Given the description of an element on the screen output the (x, y) to click on. 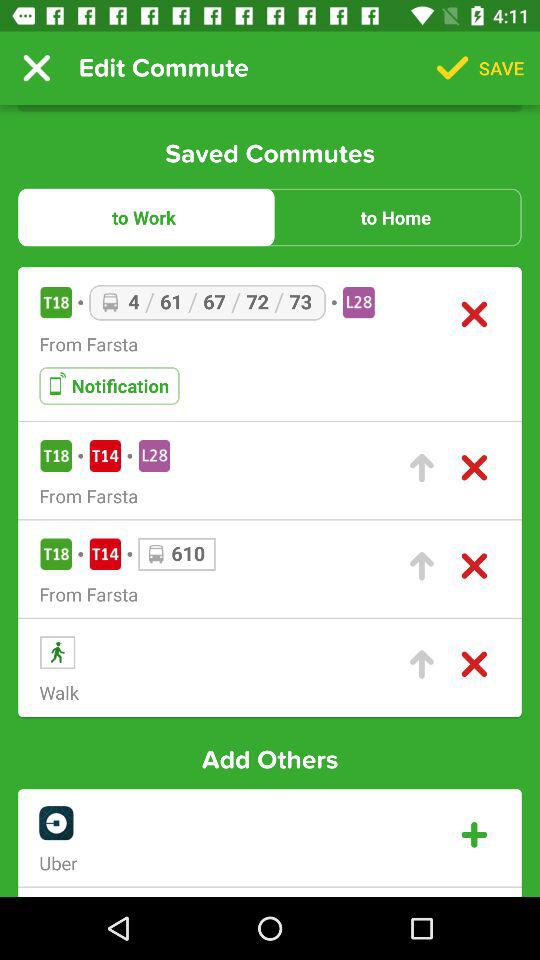
swipe until the to home item (395, 217)
